Given the description of an element on the screen output the (x, y) to click on. 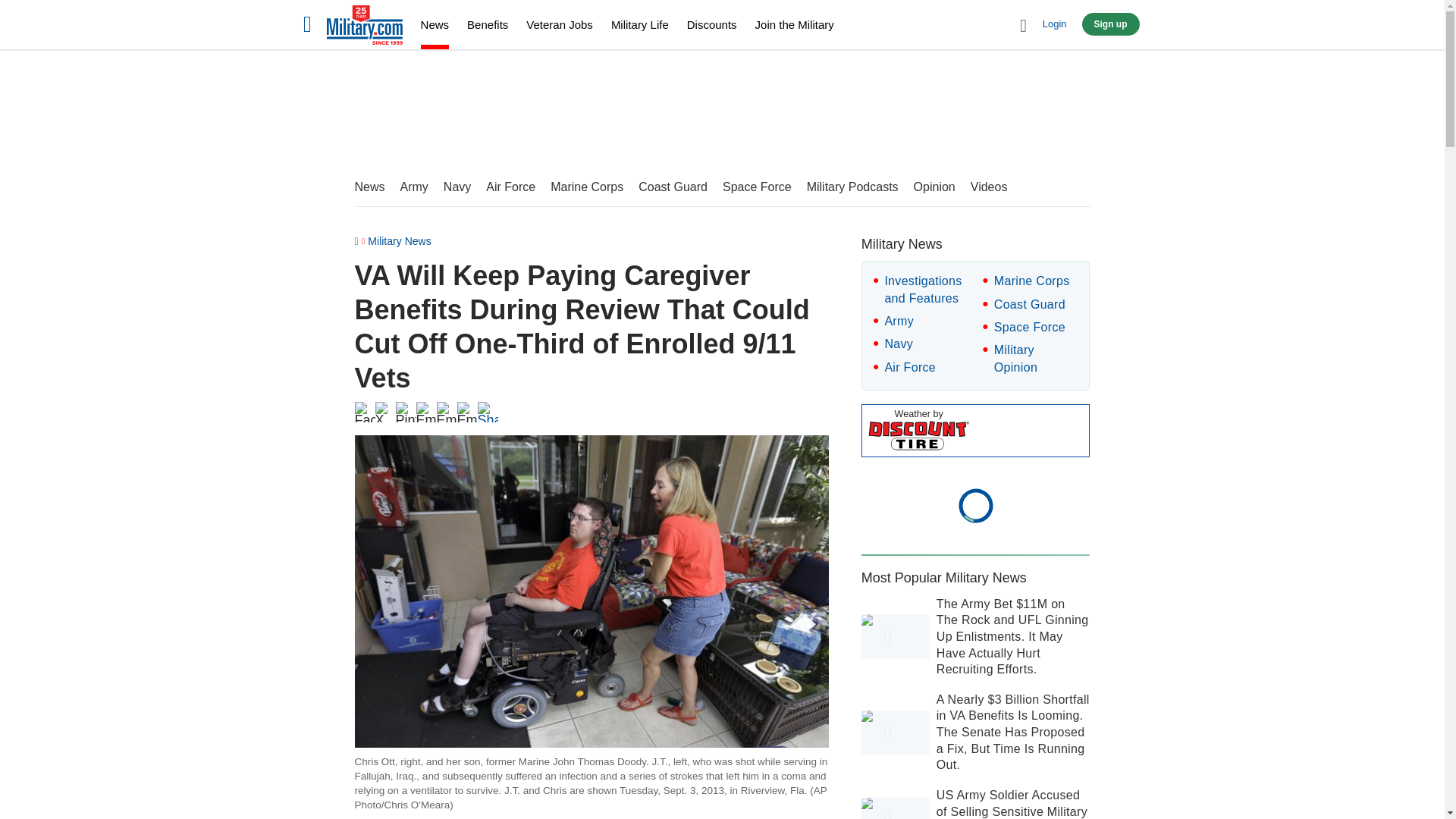
Military Life (639, 24)
Home (364, 27)
Benefits (487, 24)
Veteran Jobs (558, 24)
